Given the description of an element on the screen output the (x, y) to click on. 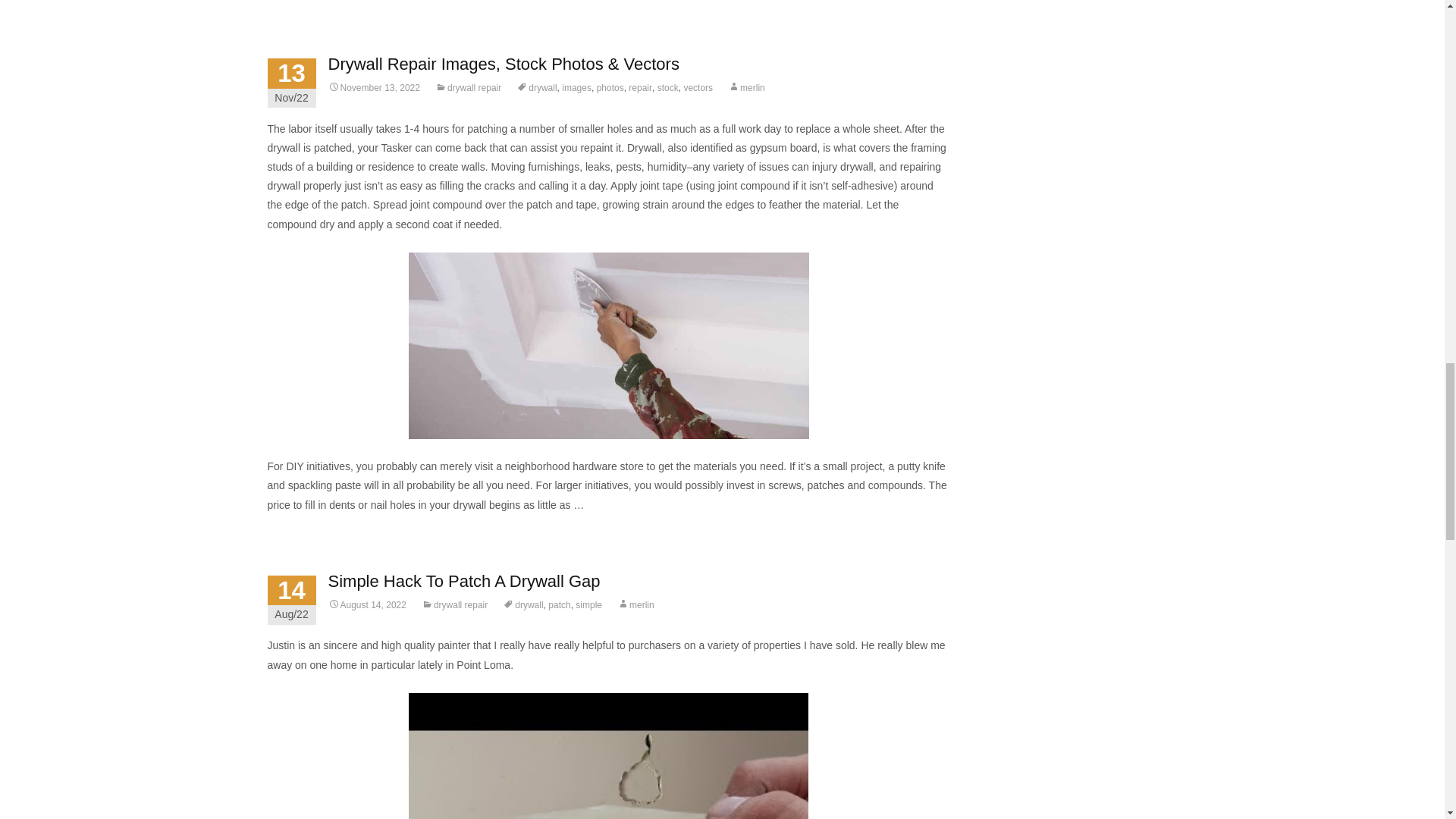
View all posts by merlin (746, 87)
View all posts by merlin (635, 604)
Permalink to Simple Hack To Patch A Drywall Gap (366, 604)
